Given the description of an element on the screen output the (x, y) to click on. 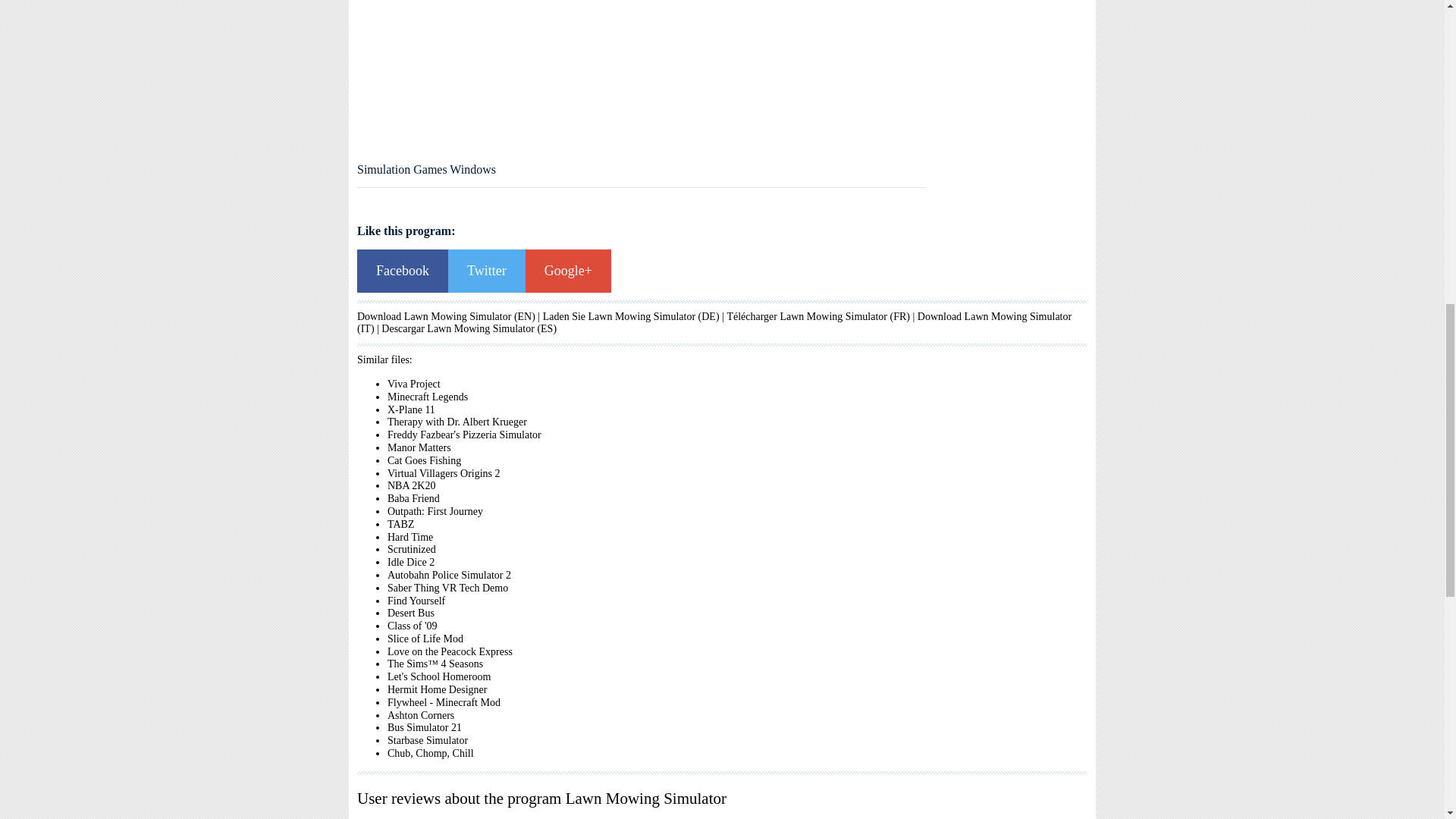
Baba Friend (413, 498)
Autobahn Police Simulator 2 (449, 574)
NBA 2K20 (411, 485)
Descargar Lawn Mowing Simulator (457, 328)
Facebook (402, 270)
Find Yourself (416, 600)
Freddy Fazbear's Pizzeria Simulator (464, 434)
TABZ (400, 523)
Download Lawn Mowing Simulator (994, 316)
Virtual Villagers Origins 2 (443, 473)
